Given the description of an element on the screen output the (x, y) to click on. 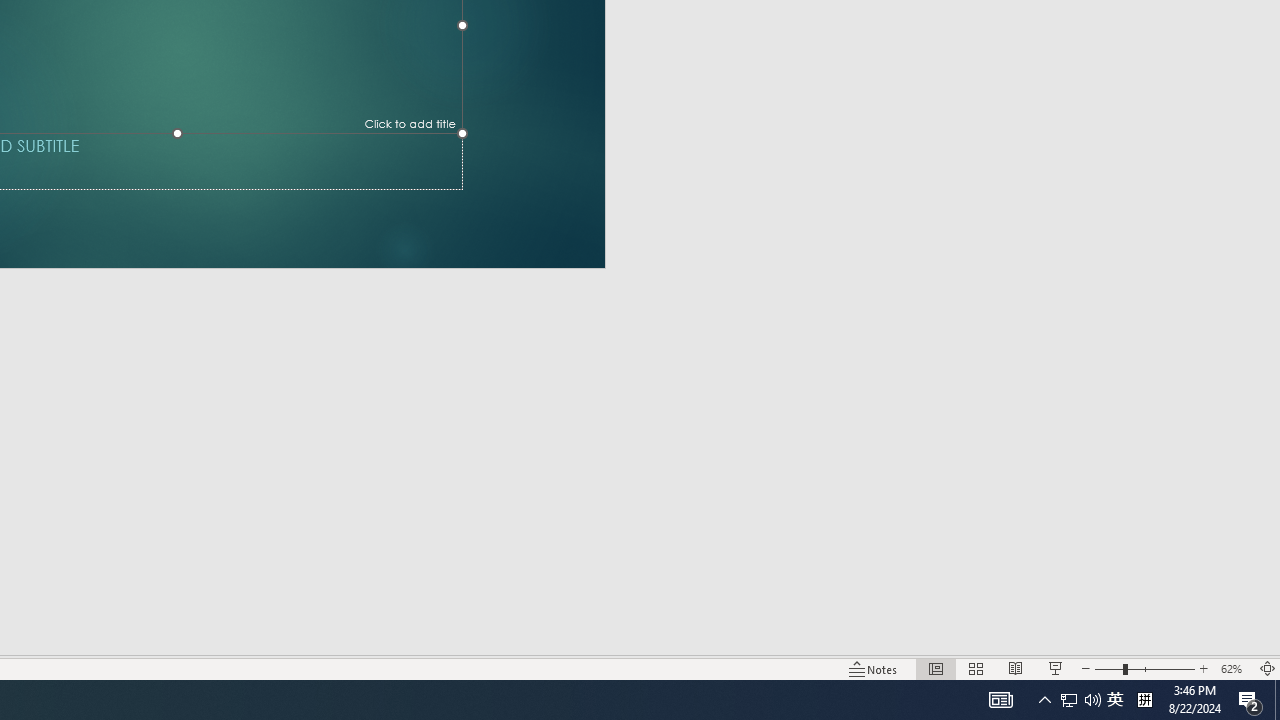
Zoom 62% (1234, 668)
